Given the description of an element on the screen output the (x, y) to click on. 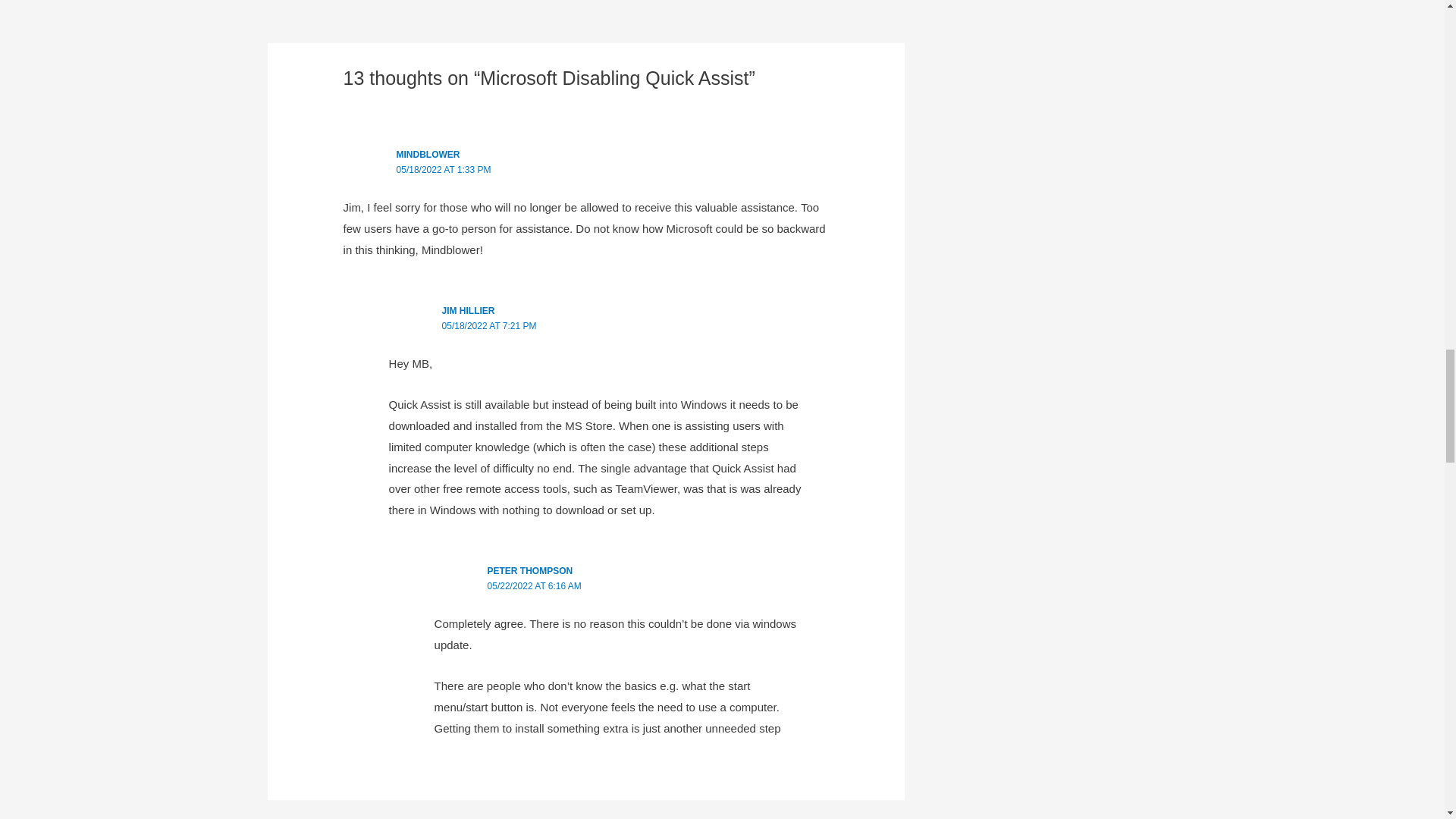
How To Print Sections, Notebooks In OneNote (870, 9)
Facebook: Temporarily Blocked Because You're Going Too Fast (310, 9)
